Given the description of an element on the screen output the (x, y) to click on. 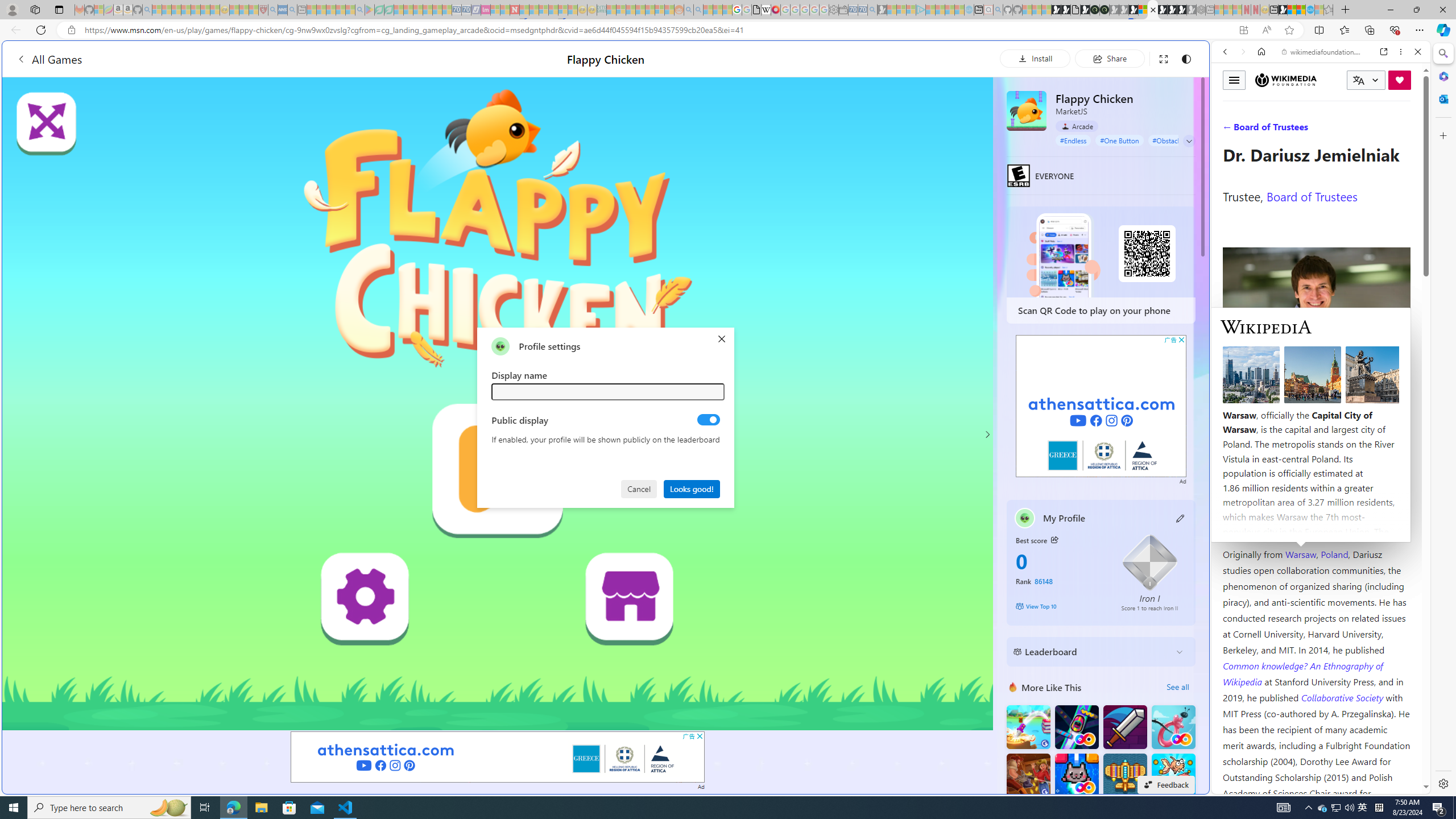
Expert Portfolios - Sleeping (639, 9)
App available. Install Flappy Chicken (1243, 29)
Copilot (Ctrl+Shift+.) (1442, 29)
Kinda Frugal - MSN - Sleeping (649, 9)
Home | Sky Blue Bikes - Sky Blue Bikes (1118, 242)
Future Focus Report 2024 (1103, 9)
Favorites (922, 683)
Home (1261, 51)
MediaWiki (774, 9)
Utah sues federal government - Search - Sleeping (697, 9)
The Weather Channel - MSN - Sleeping (175, 9)
Full screen (1163, 58)
